Given the description of an element on the screen output the (x, y) to click on. 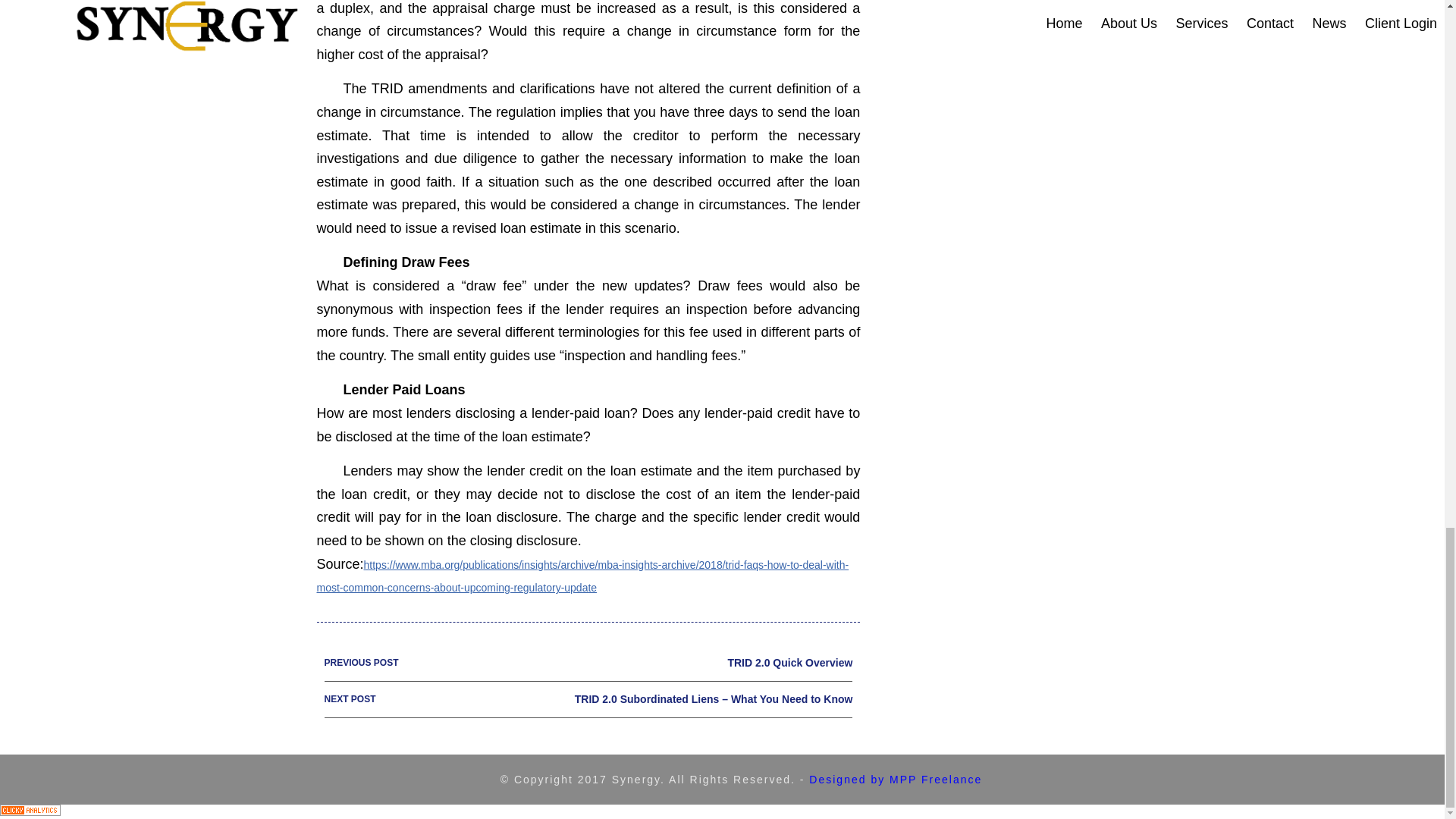
Web Statistics (30, 811)
Designed by MPP Freelance (588, 663)
